Given the description of an element on the screen output the (x, y) to click on. 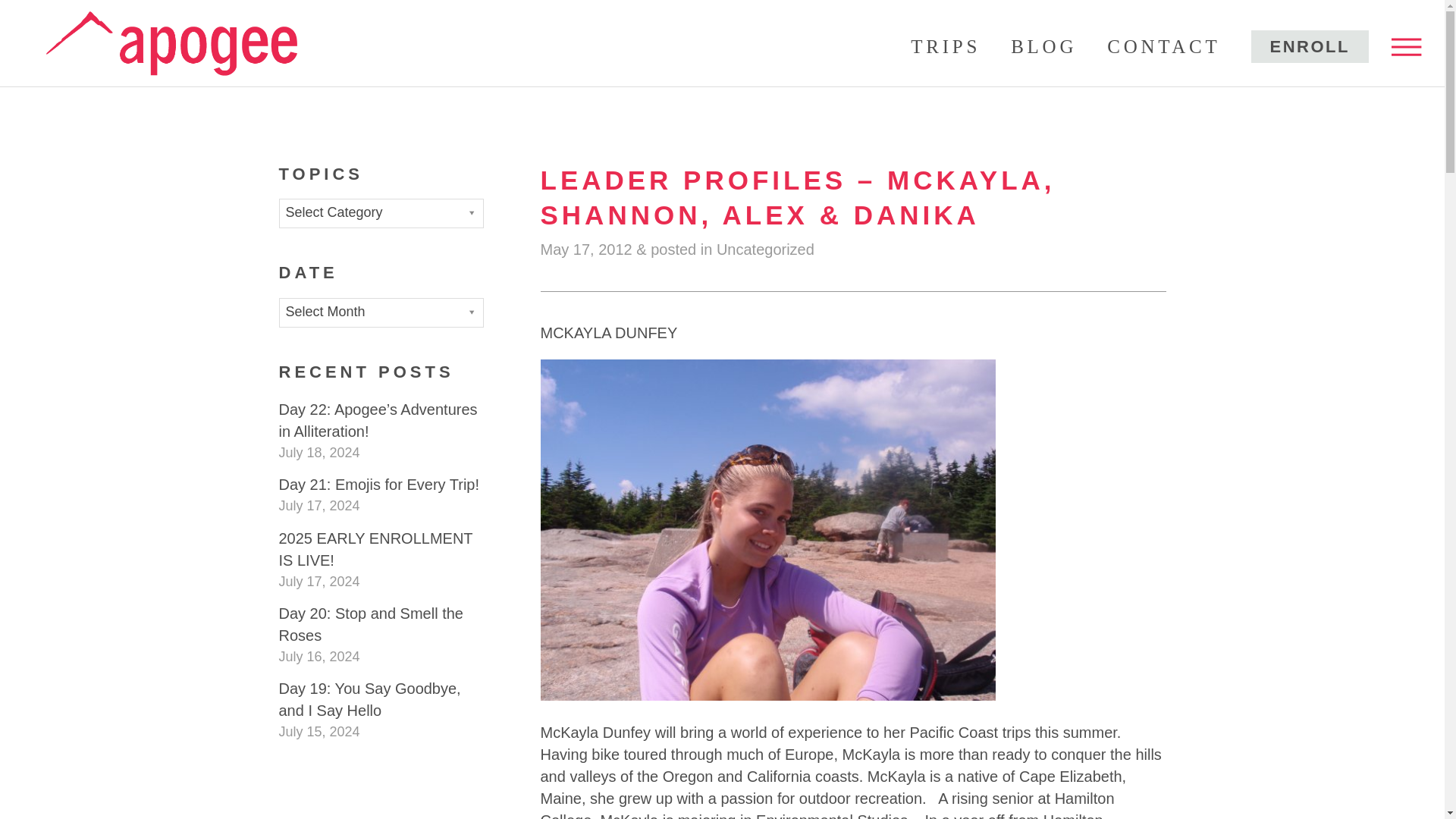
Day 21: Emojis for Every Trip! (379, 484)
CONTACT (1163, 46)
TRIPS (945, 46)
BLOG (1043, 46)
TRIPS (945, 46)
Select Category (381, 213)
ENROLL (1309, 46)
ENROLL (1309, 46)
Apogee Adventures (171, 39)
BLOG (1043, 46)
CONTACT (1163, 46)
Select Month (381, 312)
